Given the description of an element on the screen output the (x, y) to click on. 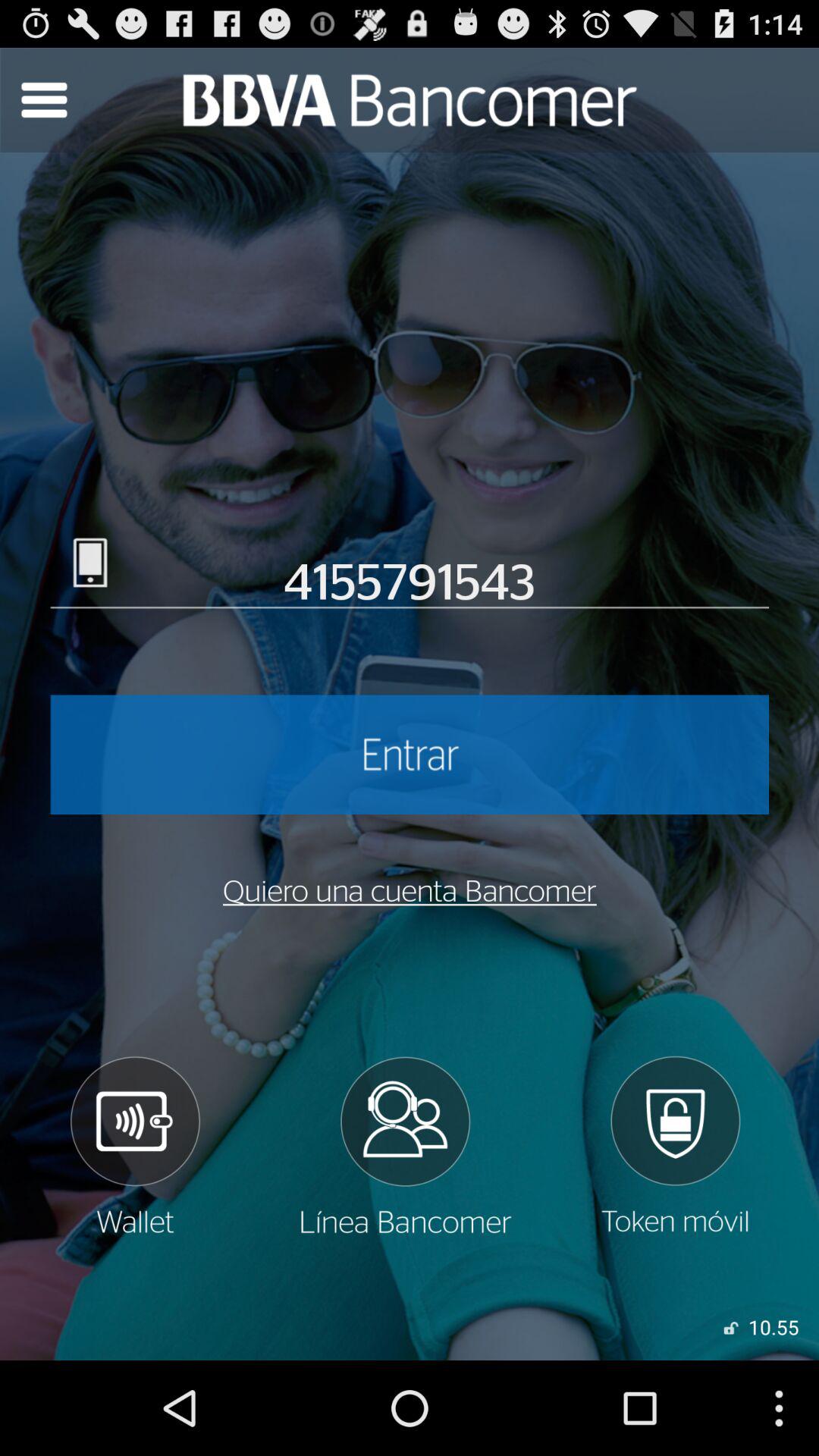
search (43, 99)
